Given the description of an element on the screen output the (x, y) to click on. 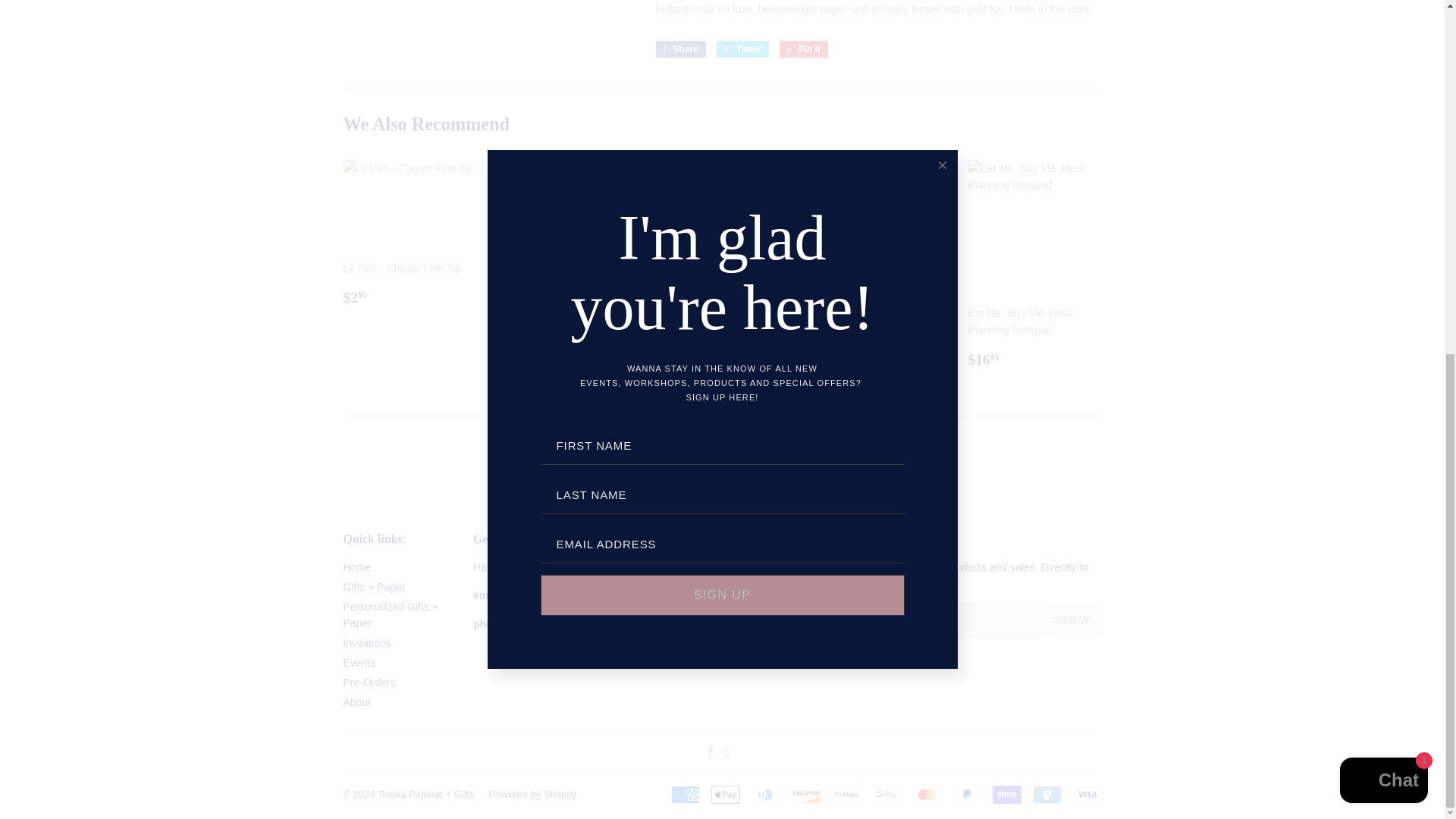
Diners Club (764, 794)
Shopify online store chat (1383, 163)
Venmo (1046, 794)
Visa (1085, 794)
Google Pay (886, 794)
Mastercard (925, 794)
American Express (683, 794)
PayPal (966, 794)
Shop Pay (1005, 794)
Meta Pay (845, 794)
Share on Facebook (679, 48)
Tweet on Twitter (742, 48)
Pin on Pinterest (803, 48)
Discover (806, 794)
Apple Pay (725, 794)
